Given the description of an element on the screen output the (x, y) to click on. 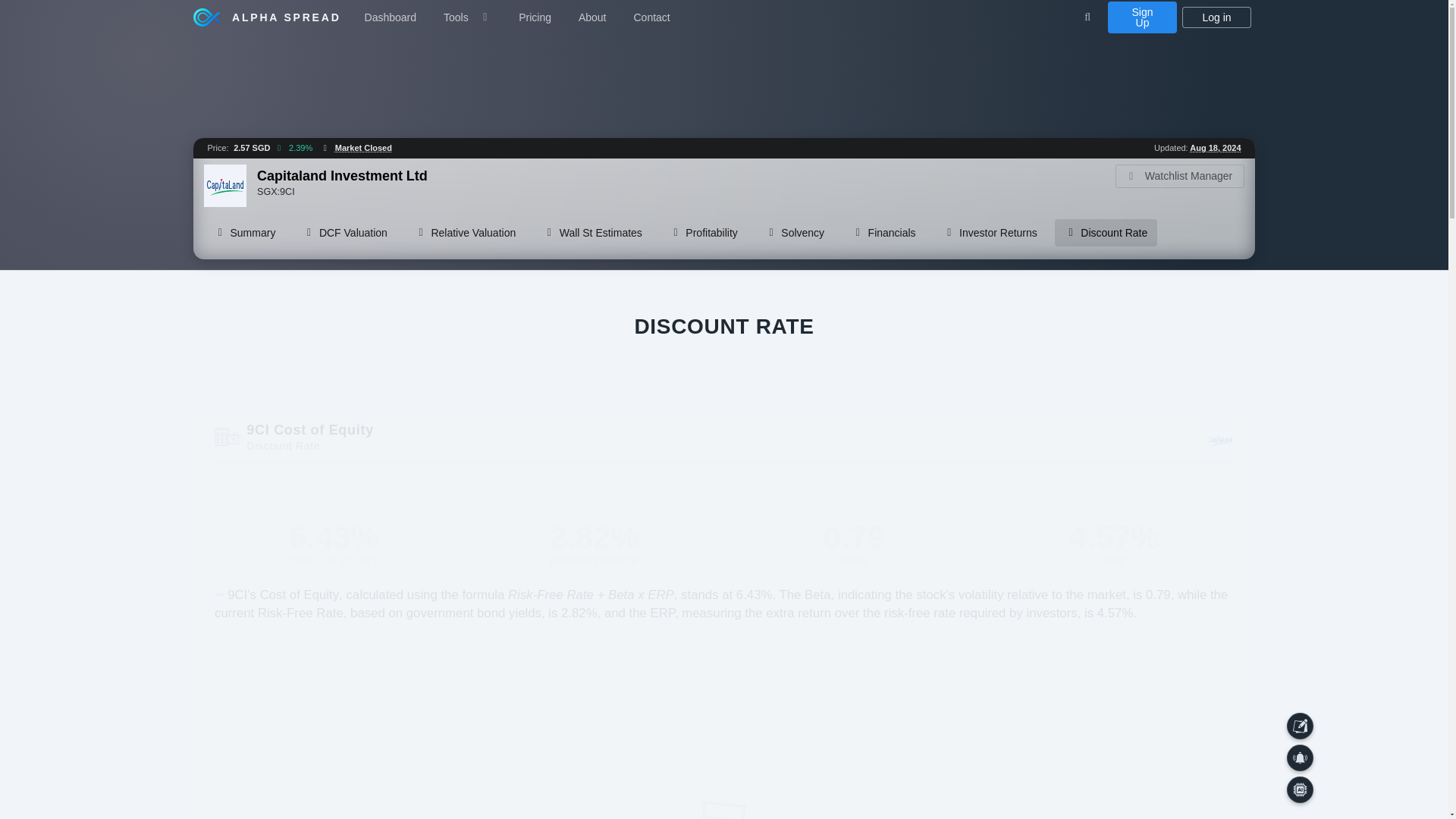
Discount Rate (1105, 232)
About (592, 17)
Pricing (534, 17)
Financials (883, 232)
Tools (466, 17)
DCF Valuation (344, 232)
ALPHA SPREAD (266, 17)
Summary (244, 232)
Profitability (703, 232)
Contact (651, 17)
